Given the description of an element on the screen output the (x, y) to click on. 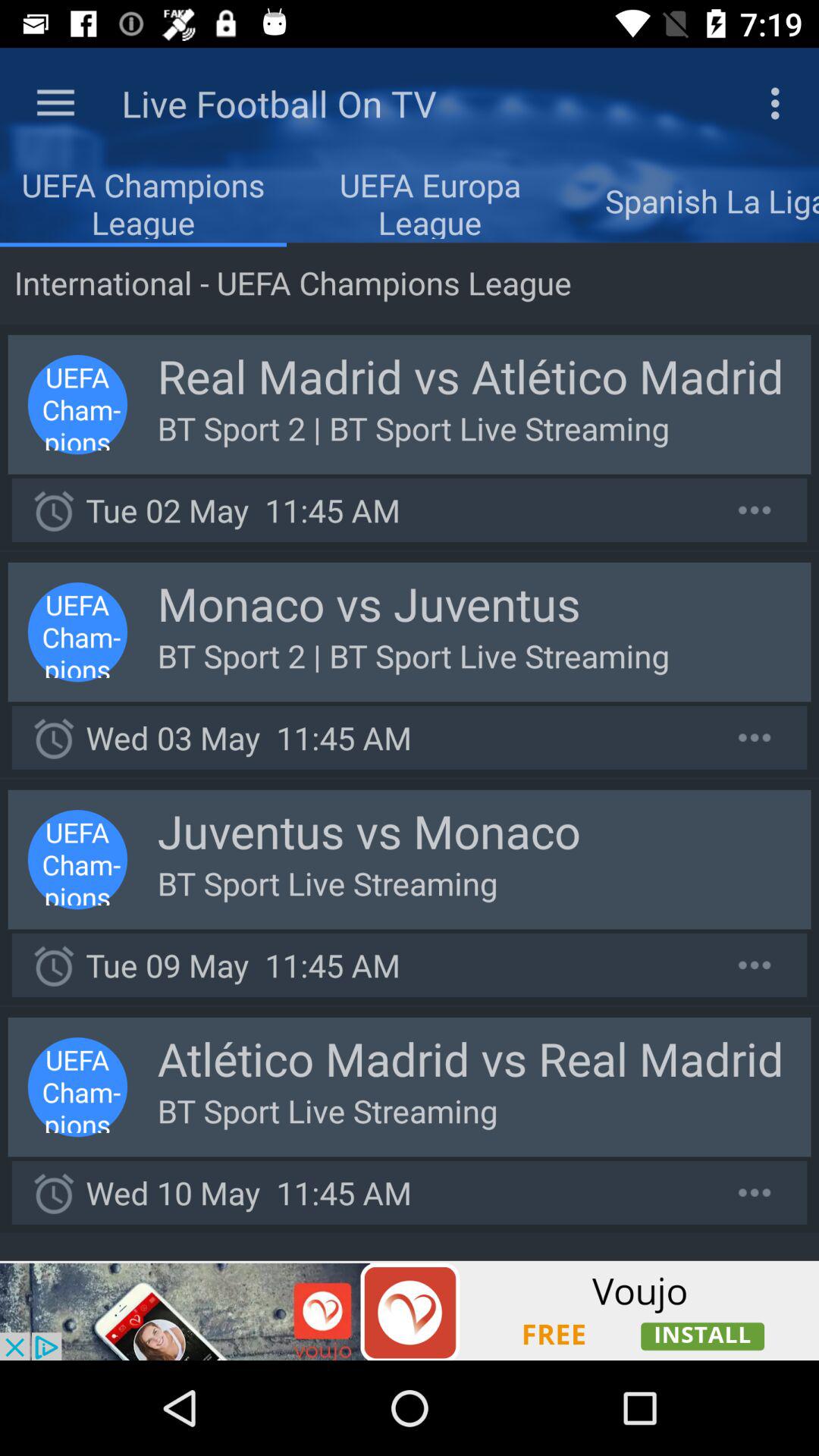
go to setting (755, 510)
